Given the description of an element on the screen output the (x, y) to click on. 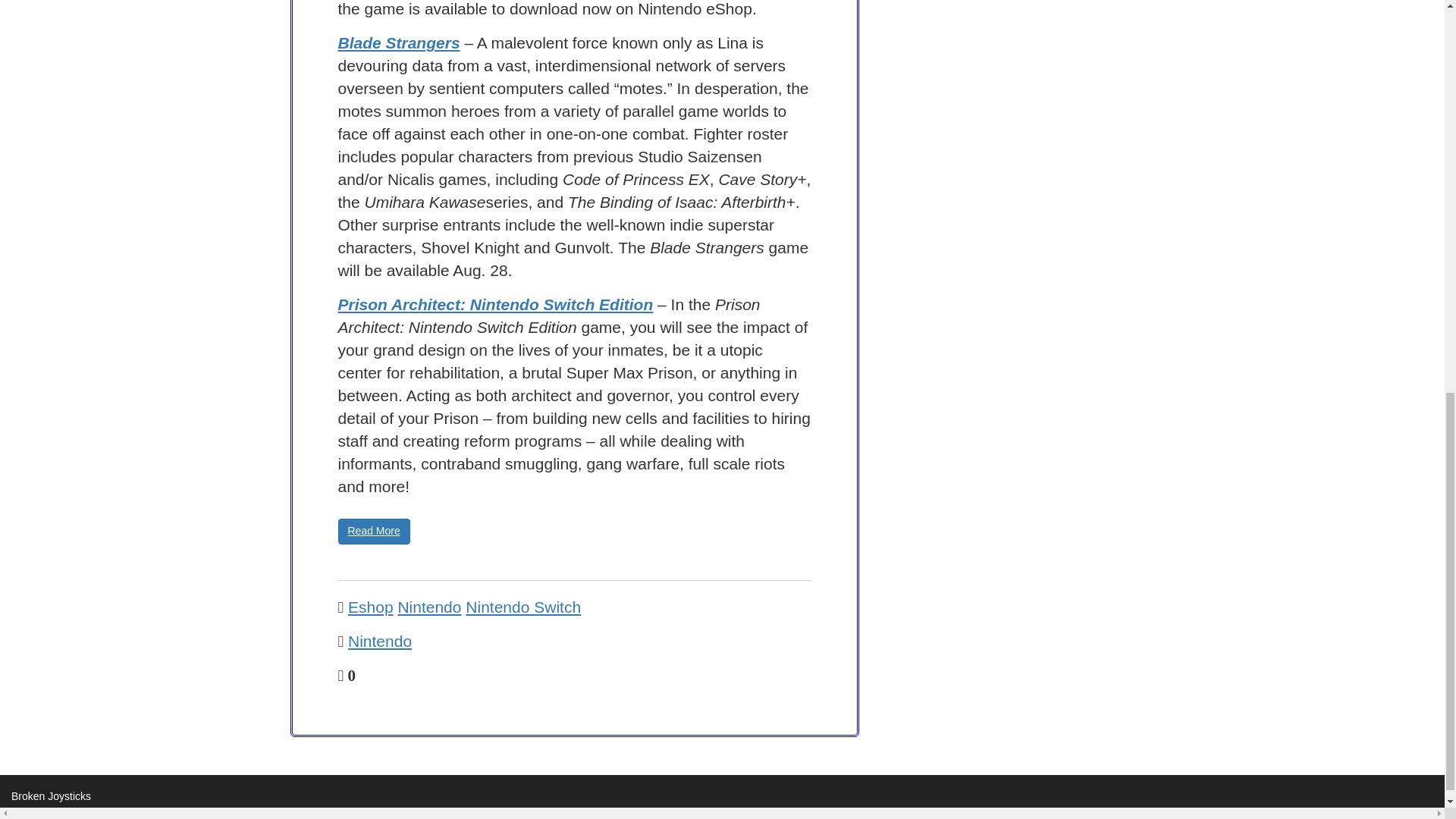
Nintendo (379, 641)
Blade Strangers (398, 42)
Nintendo (429, 606)
Nintendo Switch (522, 606)
Eshop (370, 606)
Prison Architect: Nintendo Switch Edition (495, 303)
Read More (373, 531)
